Given the description of an element on the screen output the (x, y) to click on. 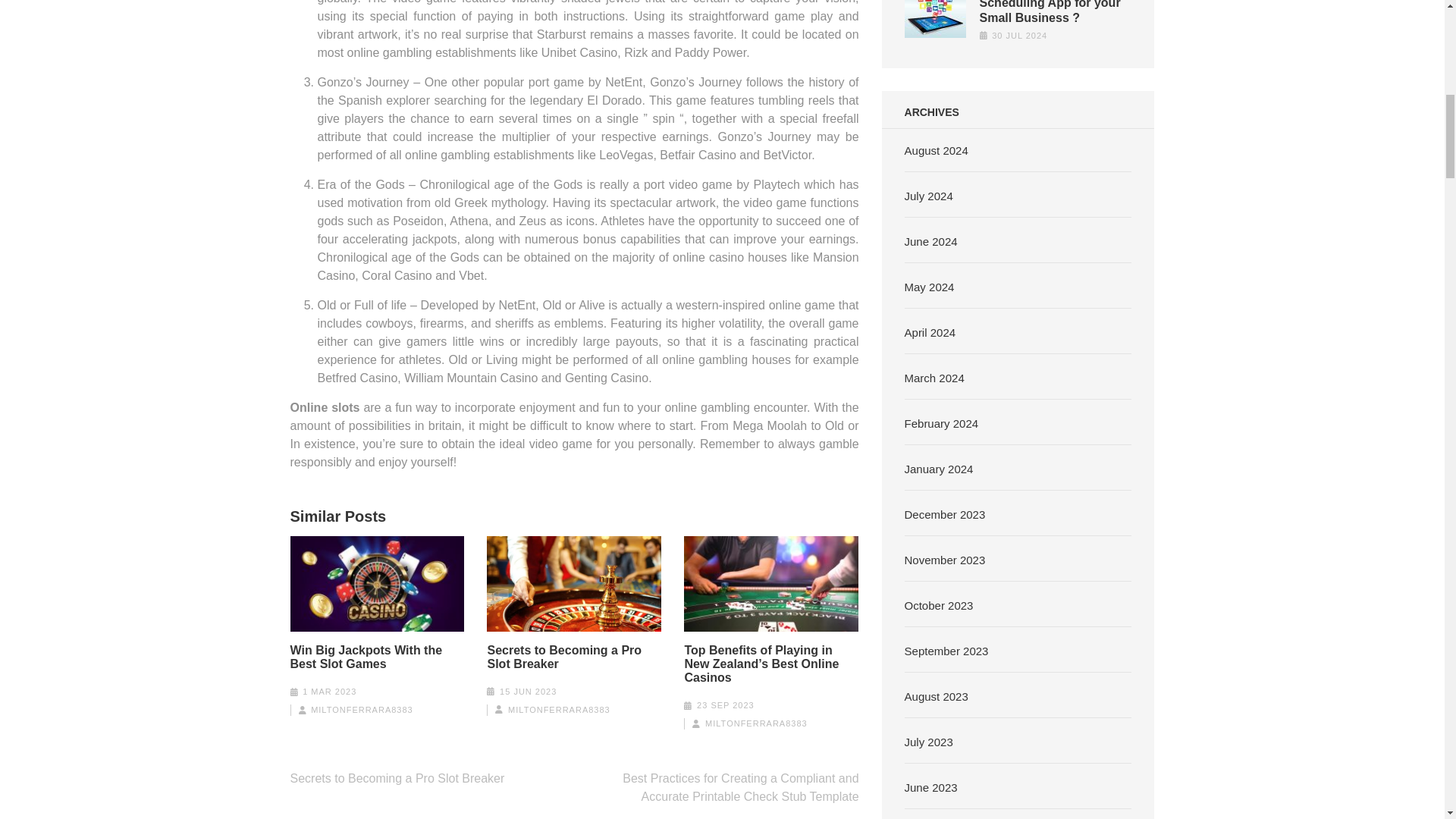
Win Big Jackpots With the Best Slot Games (376, 656)
MILTONFERRARA8383 (362, 709)
1 MAR 2023 (329, 691)
MILTONFERRARA8383 (559, 709)
Secrets to Becoming a Pro Slot Breaker (573, 656)
Secrets to Becoming a Pro Slot Breaker (396, 778)
MILTONFERRARA8383 (756, 723)
15 JUN 2023 (527, 691)
23 SEP 2023 (725, 705)
